Given the description of an element on the screen output the (x, y) to click on. 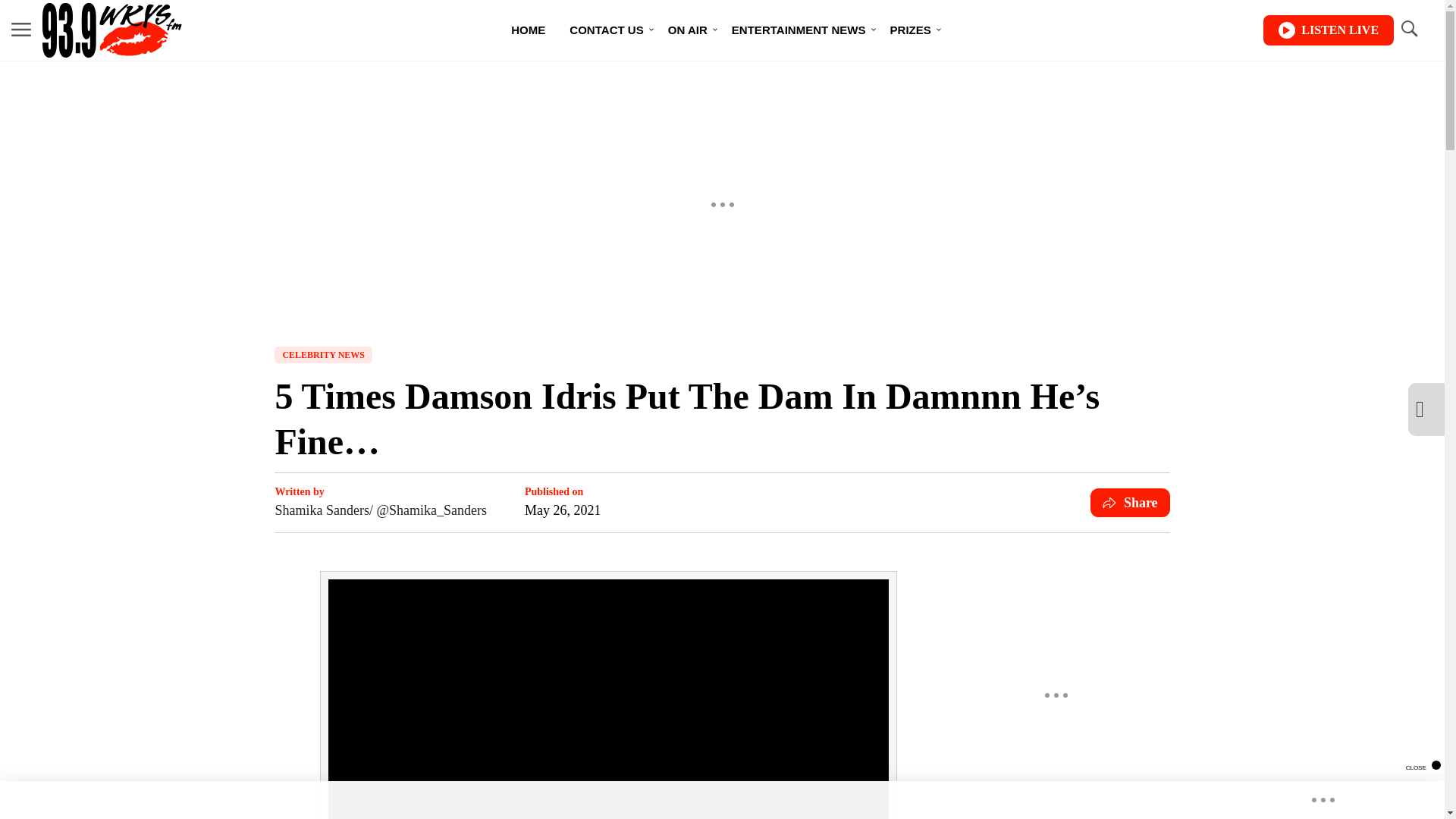
MENU (20, 30)
Share (1130, 502)
MENU (20, 29)
ON AIR (687, 30)
HOME (528, 30)
TOGGLE SEARCH (1408, 28)
PRIZES (910, 30)
CONTACT US (606, 30)
CELEBRITY NEWS (323, 354)
LISTEN LIVE (1328, 30)
ENTERTAINMENT NEWS (798, 30)
TOGGLE SEARCH (1408, 30)
